Given the description of an element on the screen output the (x, y) to click on. 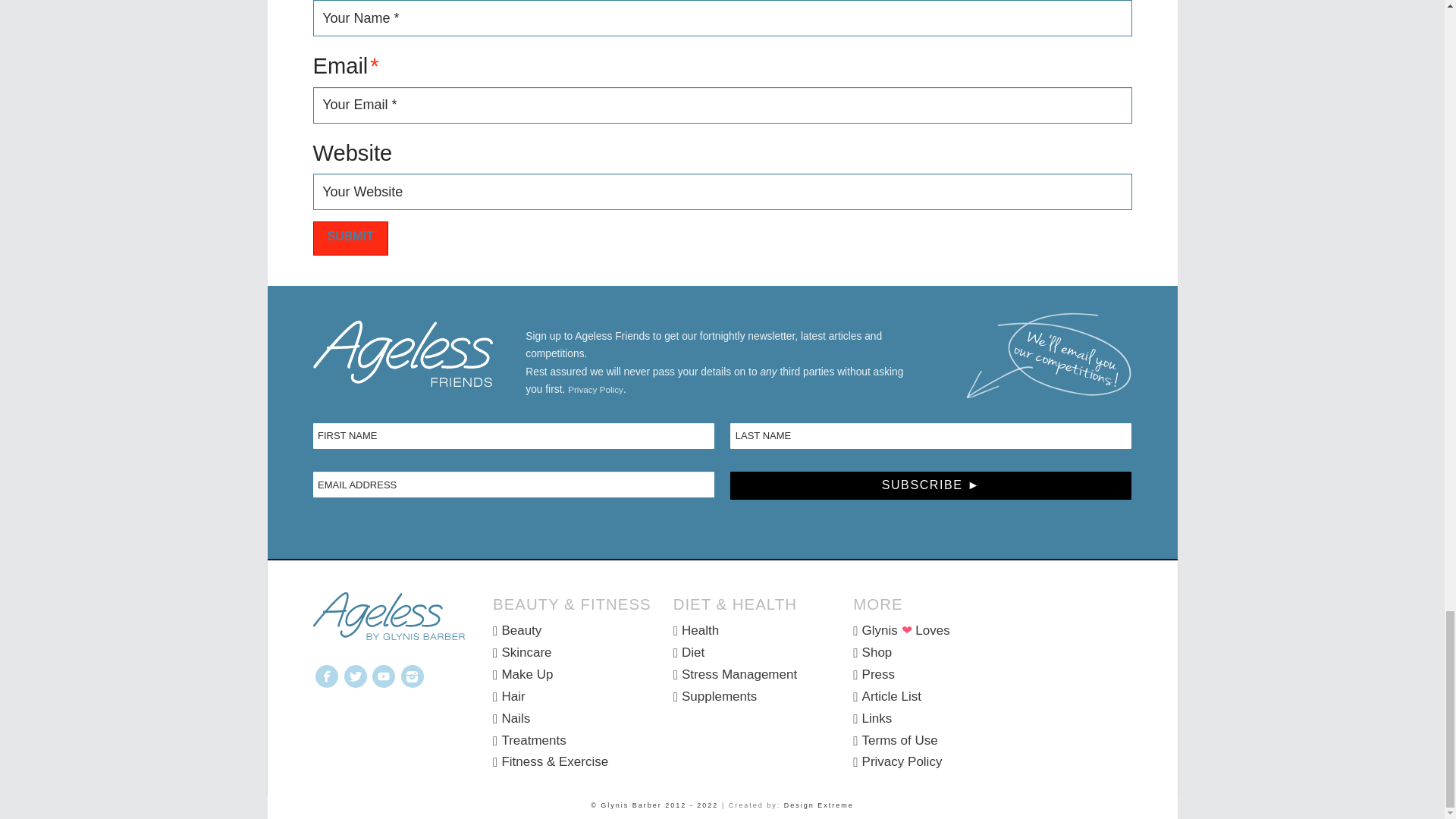
Submit (350, 238)
